Given the description of an element on the screen output the (x, y) to click on. 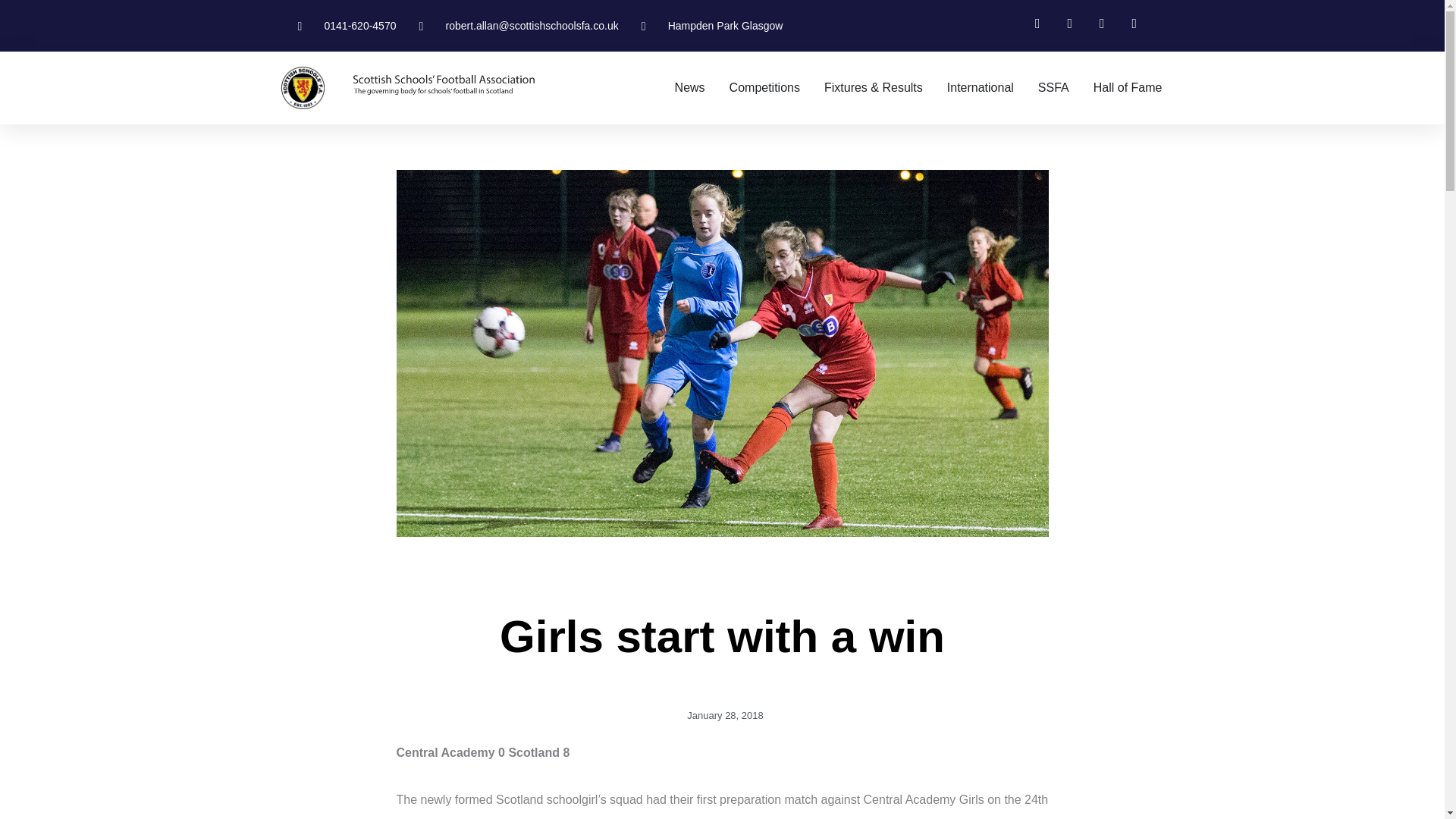
SSFA (1053, 87)
January 28, 2018 (721, 715)
Hall of Fame (1127, 87)
News (689, 87)
Competitions (764, 87)
International (980, 87)
